Given the description of an element on the screen output the (x, y) to click on. 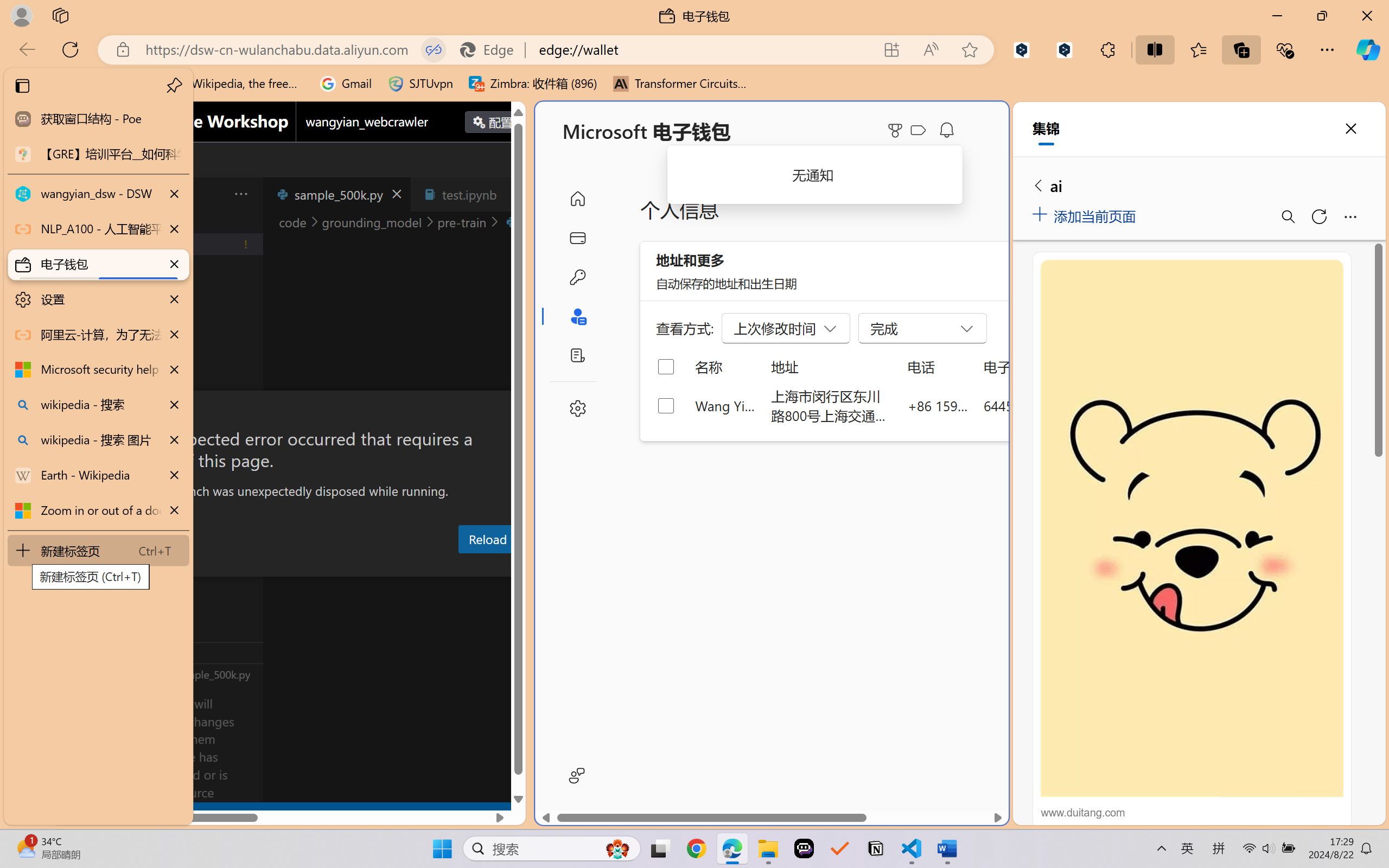
Search (Ctrl+Shift+F) (73, 281)
Source Control (Ctrl+Shift+G) (73, 328)
Class: menubar compact overflow-menu-only (73, 194)
Microsoft Cashback (920, 130)
Terminal (Ctrl+`) (553, 565)
Wikipedia, the free encyclopedia (236, 83)
644553698@qq.com (1043, 405)
